Given the description of an element on the screen output the (x, y) to click on. 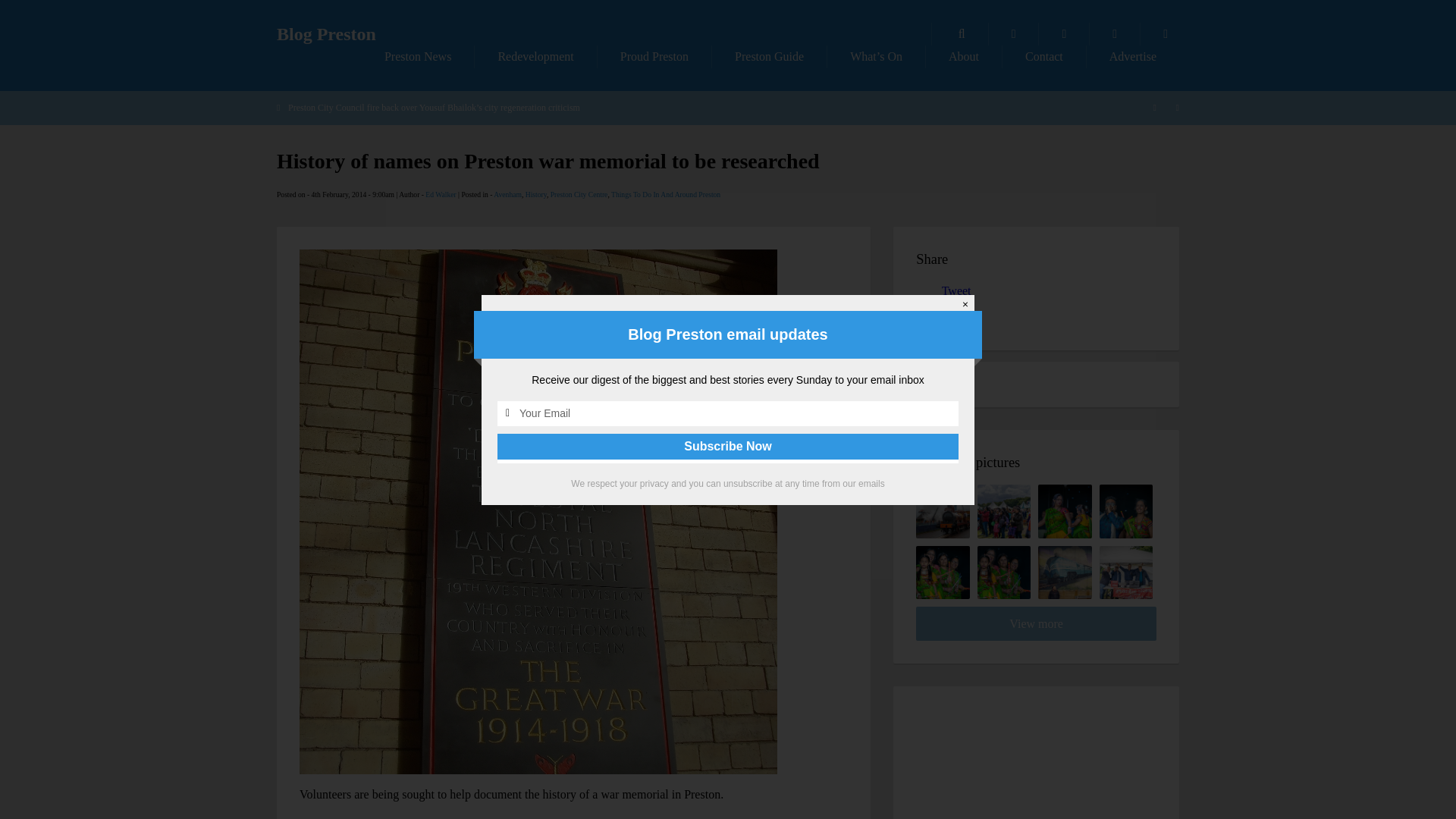
View more (1035, 623)
Blog Preston on Instagram (1165, 33)
Preston Guide (769, 56)
Advertise (1132, 56)
About Blog Preston (963, 56)
Proud Preston (653, 56)
Subscribe Now (727, 446)
Blog Preston (325, 33)
Proud Preston (653, 56)
Preston City Centre (579, 194)
Contact Blog Preston (1044, 56)
Redevelopment news in and around Preston (534, 56)
About (963, 56)
Preston News (417, 56)
History (536, 194)
